Given the description of an element on the screen output the (x, y) to click on. 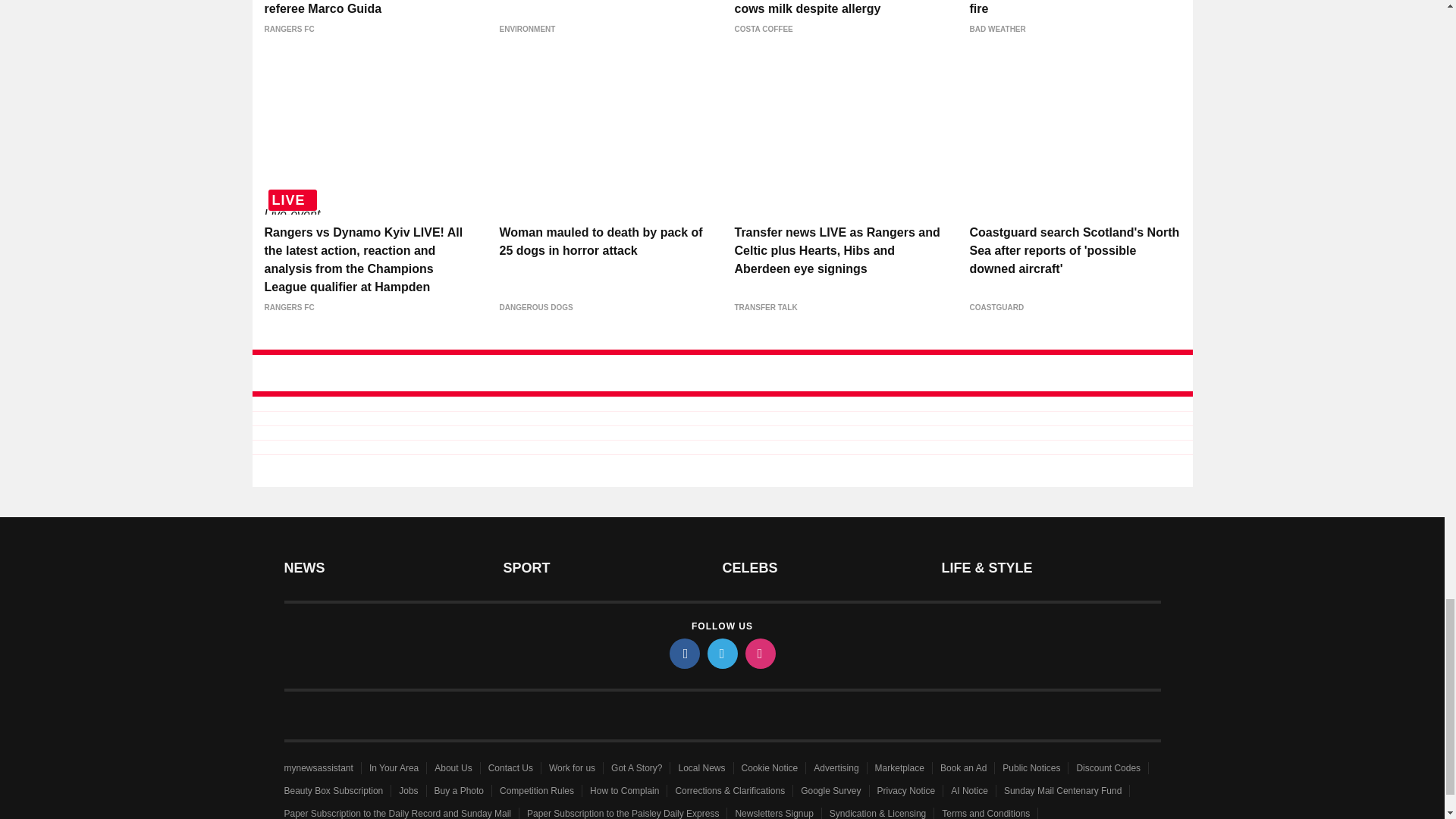
twitter (721, 653)
facebook (683, 653)
instagram (759, 653)
